Given the description of an element on the screen output the (x, y) to click on. 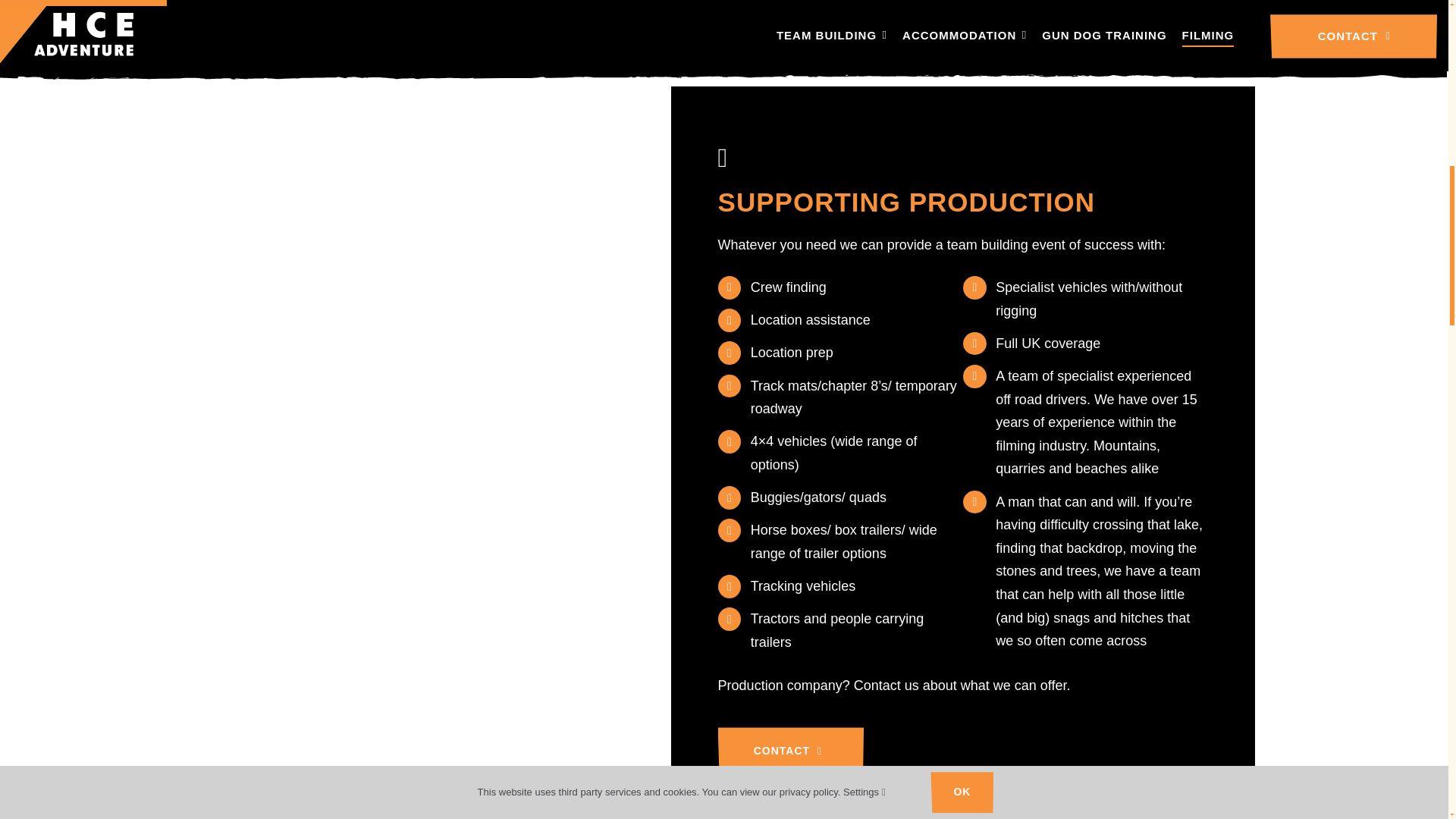
Contact Here (790, 751)
CONTACT (790, 751)
